Given the description of an element on the screen output the (x, y) to click on. 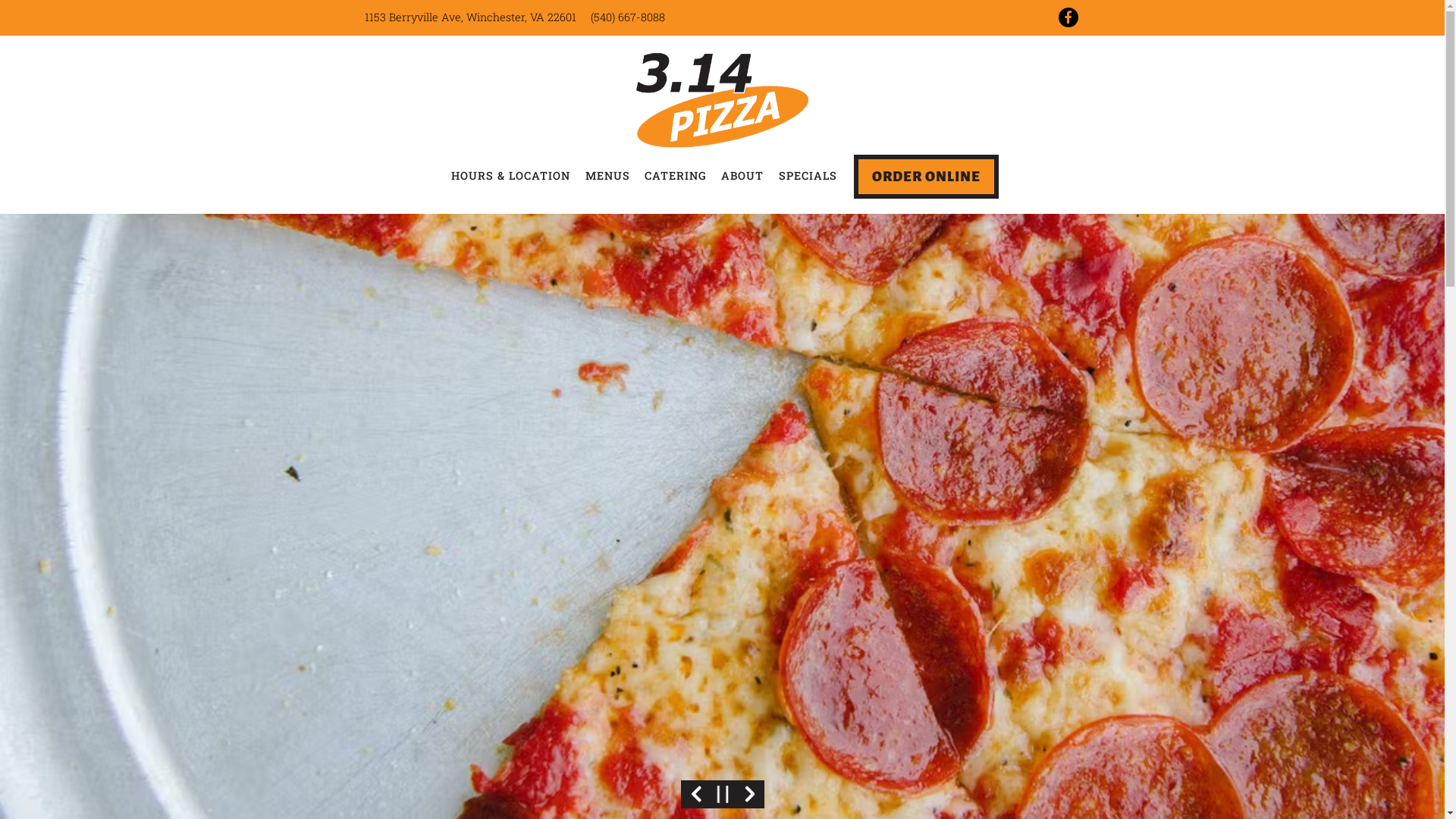
Next Slide Element type: text (749, 794)
PLAYING HERO GALLERY, PRESS TO PAUSE IMAGES SLIDES Element type: text (722, 794)
SPECIALS Element type: text (807, 175)
(540) 667-8088 Element type: text (627, 17)
Facebook Element type: text (1068, 17)
MENUS Element type: text (606, 175)
HOURS & LOCATION Element type: text (510, 175)
CATERING Element type: text (675, 175)
Previous Slide Element type: text (695, 794)
1153 Berryville Ave, Winchester, VA 22601 Element type: text (470, 17)
ORDER ONLINE Element type: text (925, 176)
ABOUT Element type: text (741, 175)
